Given the description of an element on the screen output the (x, y) to click on. 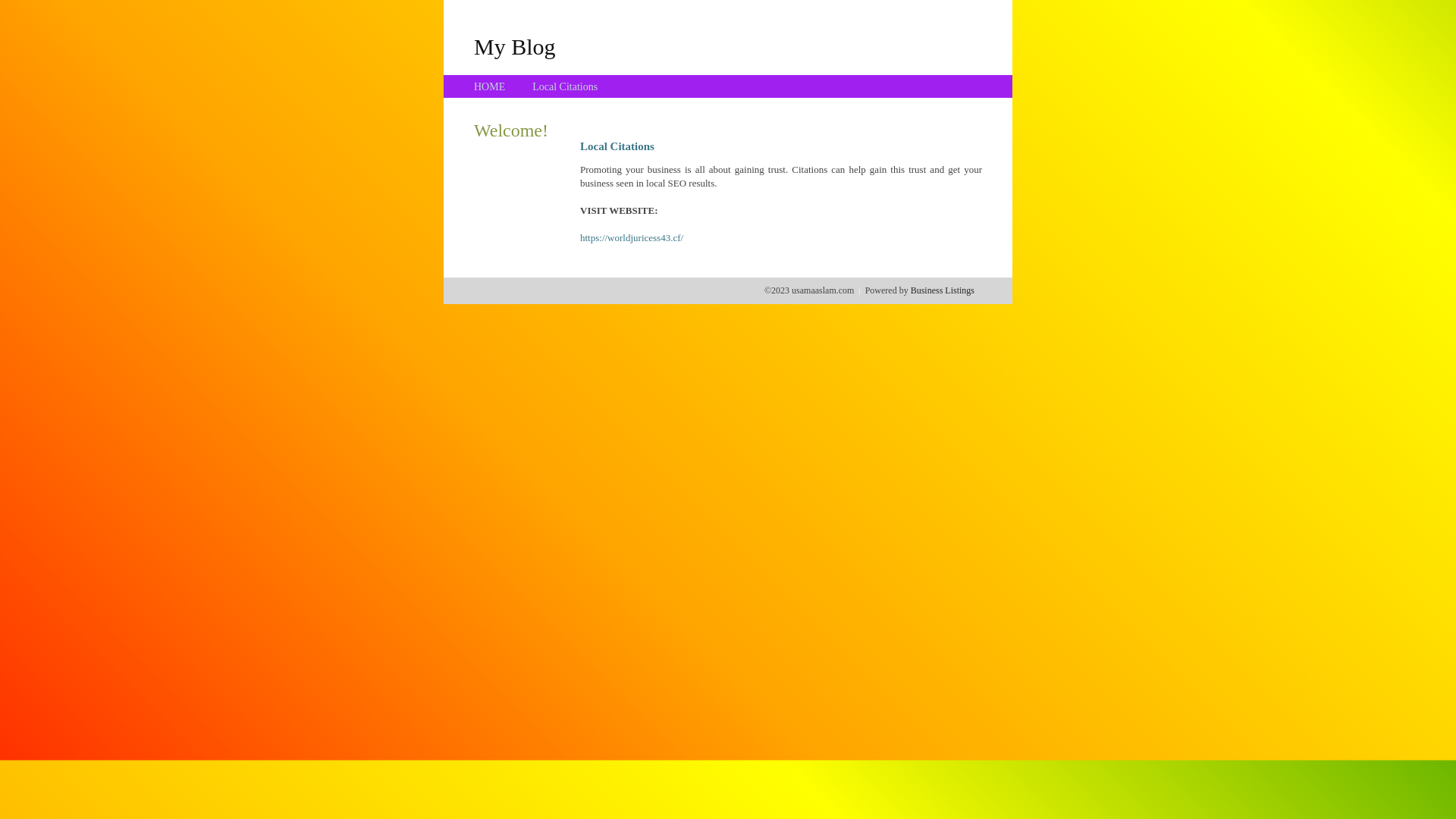
https://worldjuricess43.cf/ Element type: text (631, 237)
Business Listings Element type: text (942, 290)
My Blog Element type: text (514, 46)
Local Citations Element type: text (564, 86)
HOME Element type: text (489, 86)
